Given the description of an element on the screen output the (x, y) to click on. 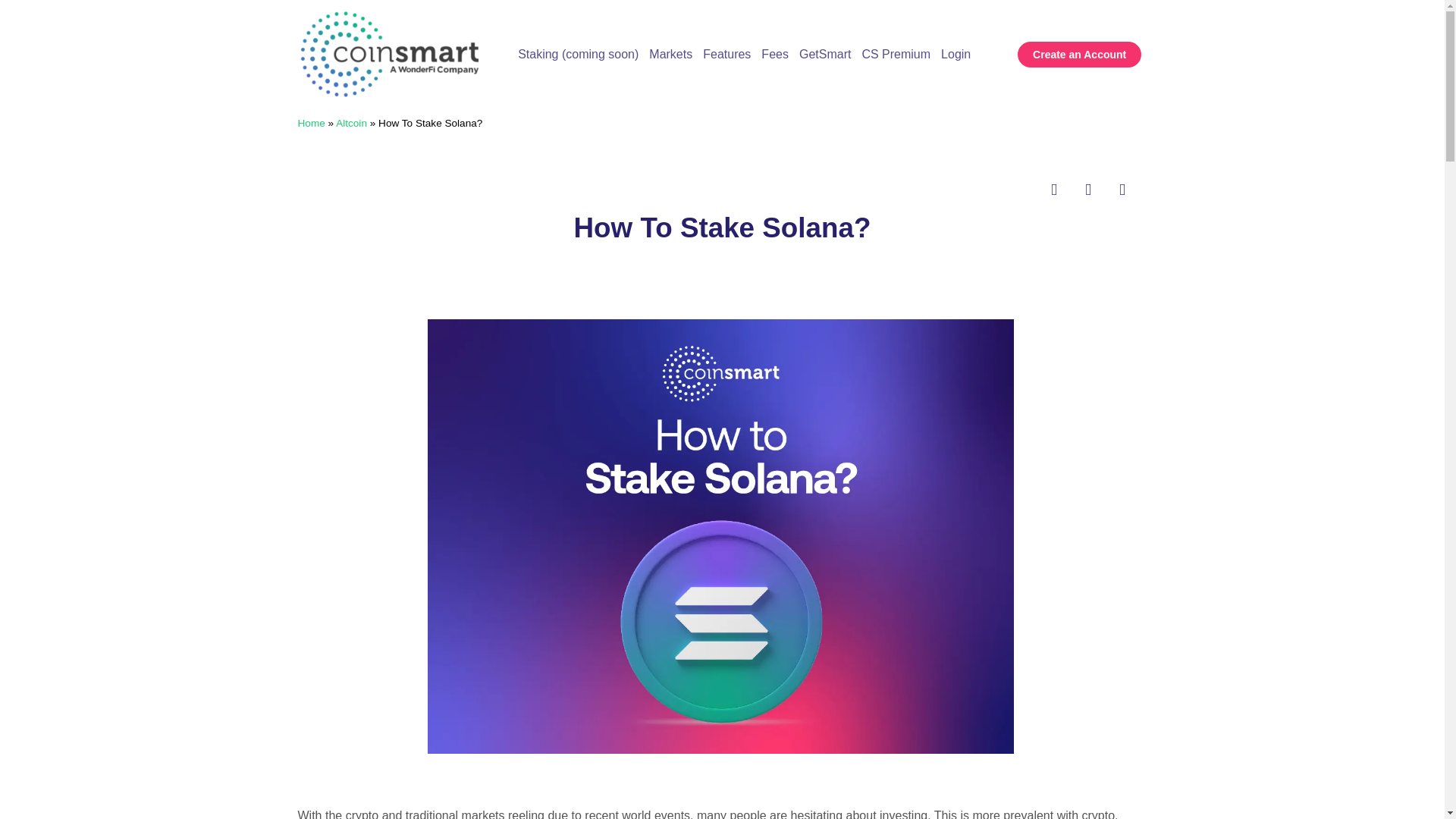
GetSmart (824, 10)
Features (726, 3)
Markets (670, 0)
Fees (775, 6)
Login (955, 19)
Home (310, 122)
Altcoin (351, 122)
Create an Account (1079, 50)
CS Premium (895, 14)
